Given the description of an element on the screen output the (x, y) to click on. 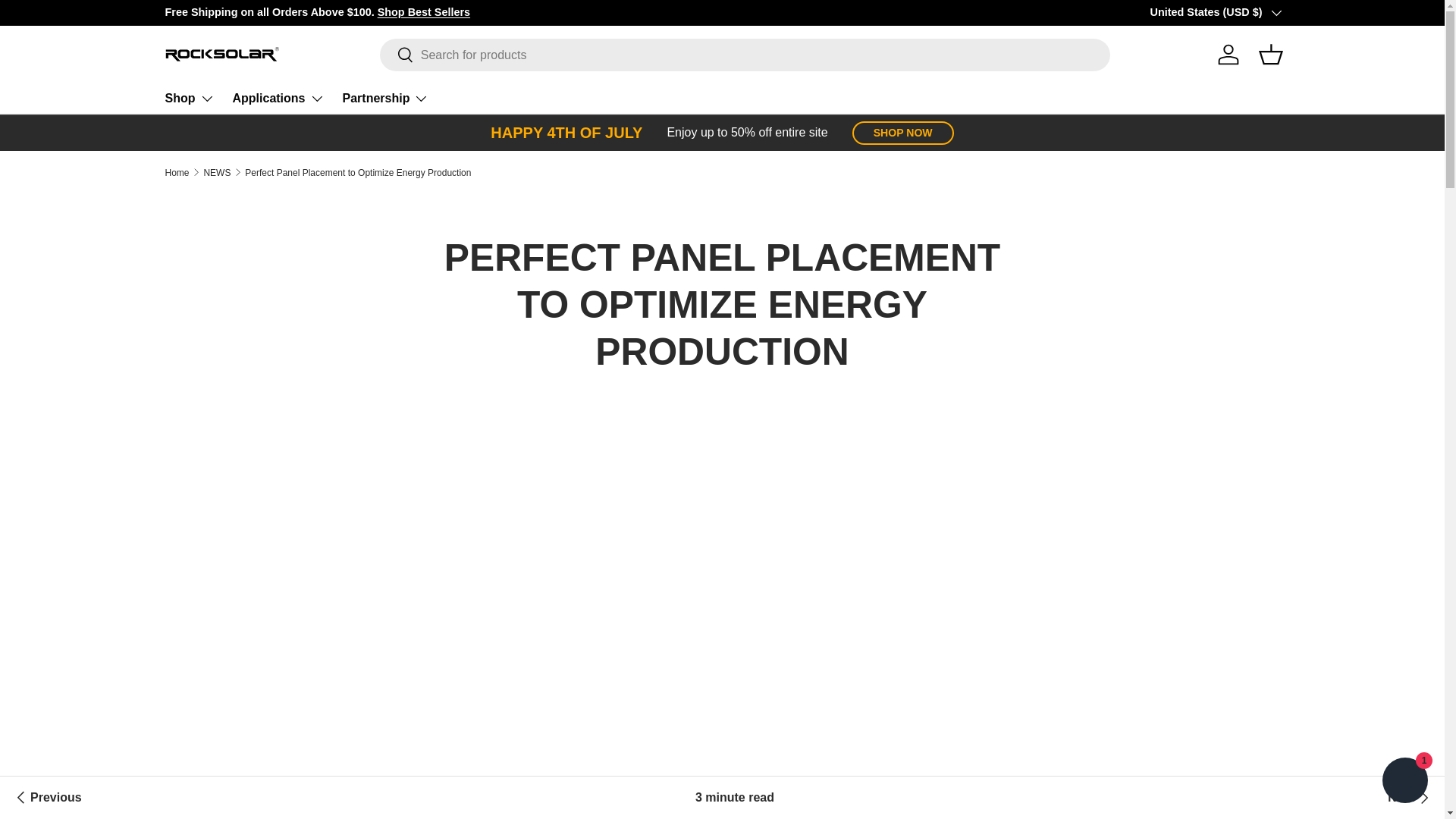
Shopify online store chat (1404, 781)
Log in (1227, 54)
SKIP TO CONTENT (69, 21)
Advantages of Off-Grid Living Powered by Rigid Solar Panels (1409, 797)
Shop (189, 98)
Shop Collection (1395, 11)
02. Solar Panels (1395, 11)
Shop Best Sellers (423, 11)
Basket (1270, 54)
Search (396, 55)
All collections (423, 11)
